Given the description of an element on the screen output the (x, y) to click on. 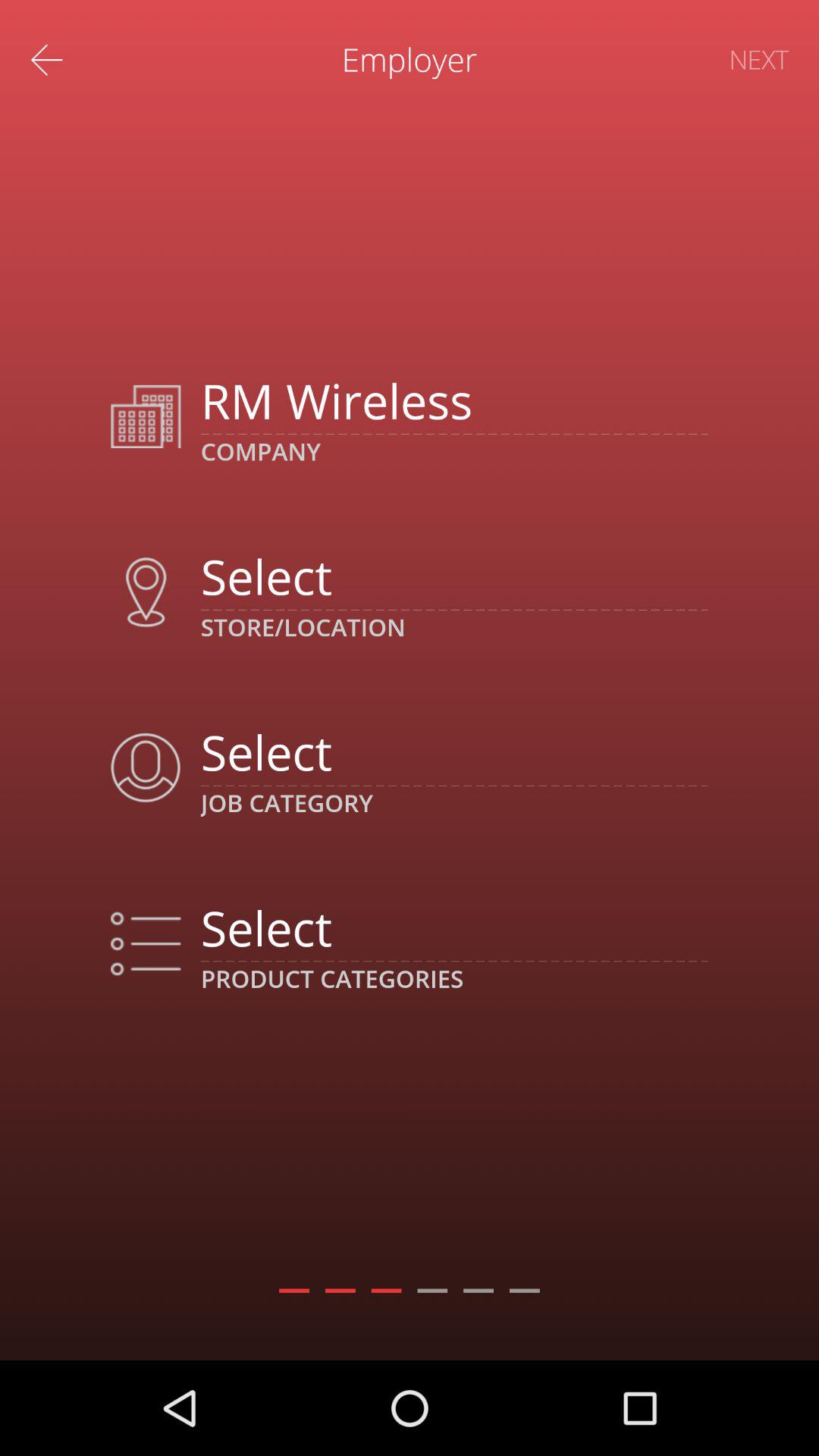
go to location option (454, 575)
